Given the description of an element on the screen output the (x, y) to click on. 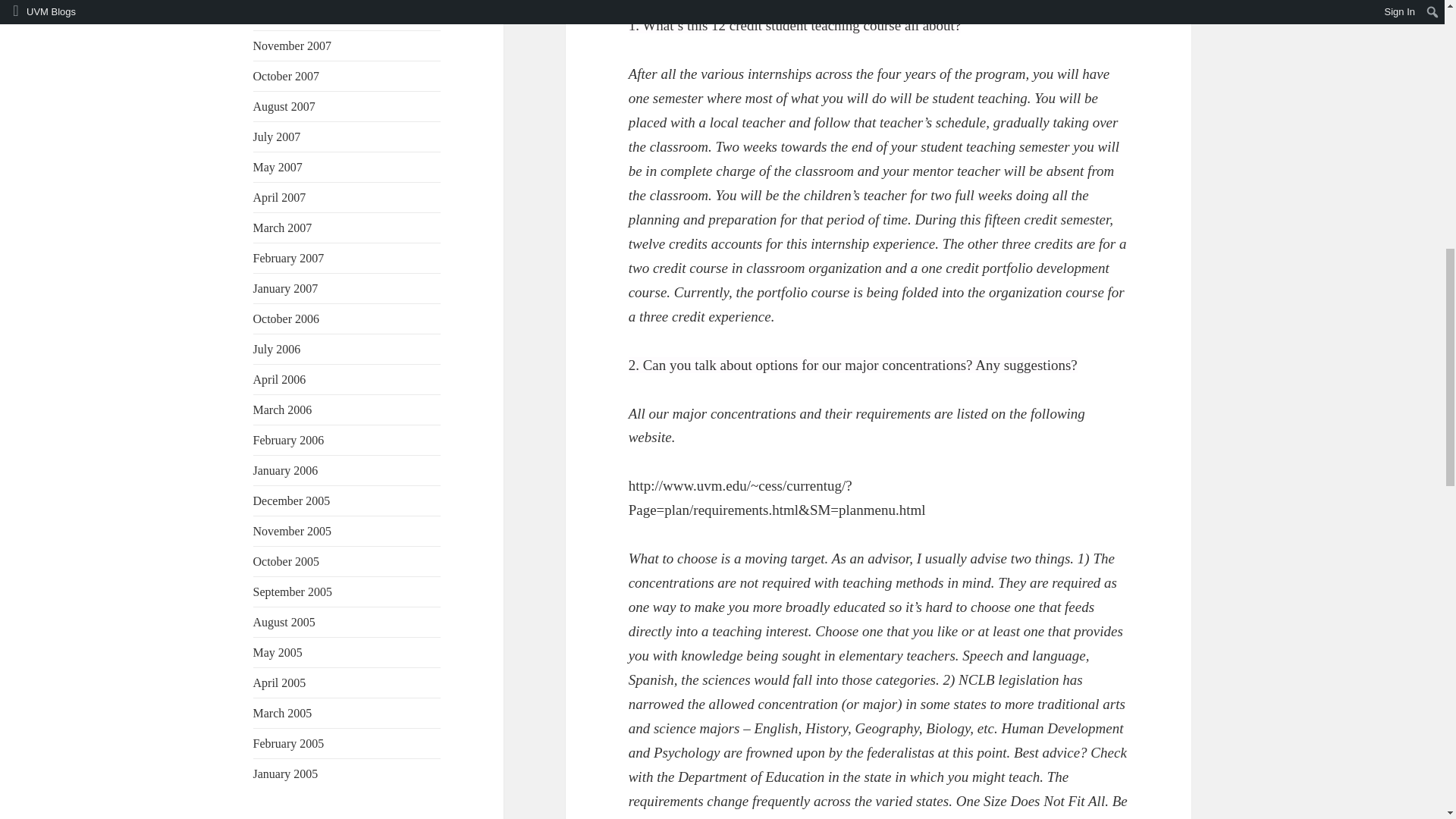
November 2007 (292, 45)
October 2006 (286, 318)
October 2007 (286, 75)
December 2007 (291, 15)
April 2006 (279, 379)
January 2007 (285, 287)
July 2007 (277, 136)
July 2006 (277, 349)
March 2007 (283, 227)
August 2007 (284, 106)
April 2007 (279, 196)
February 2007 (288, 257)
May 2007 (277, 166)
